Given the description of an element on the screen output the (x, y) to click on. 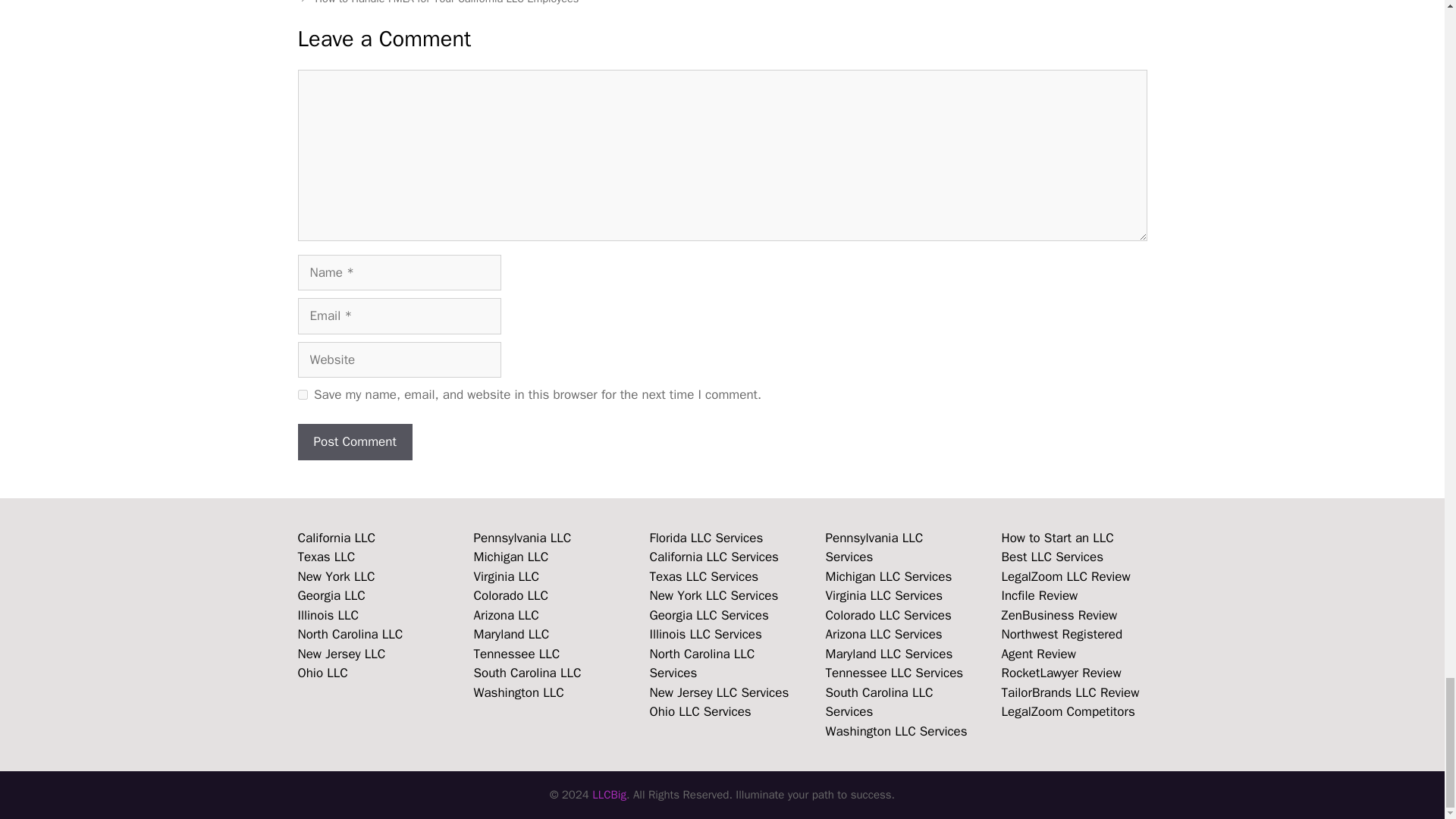
How to Start an LLC in Texas (326, 556)
How to Start an LLC in California (336, 537)
yes (302, 394)
Post Comment (354, 442)
How to Start an LLC in New York (335, 576)
